Given the description of an element on the screen output the (x, y) to click on. 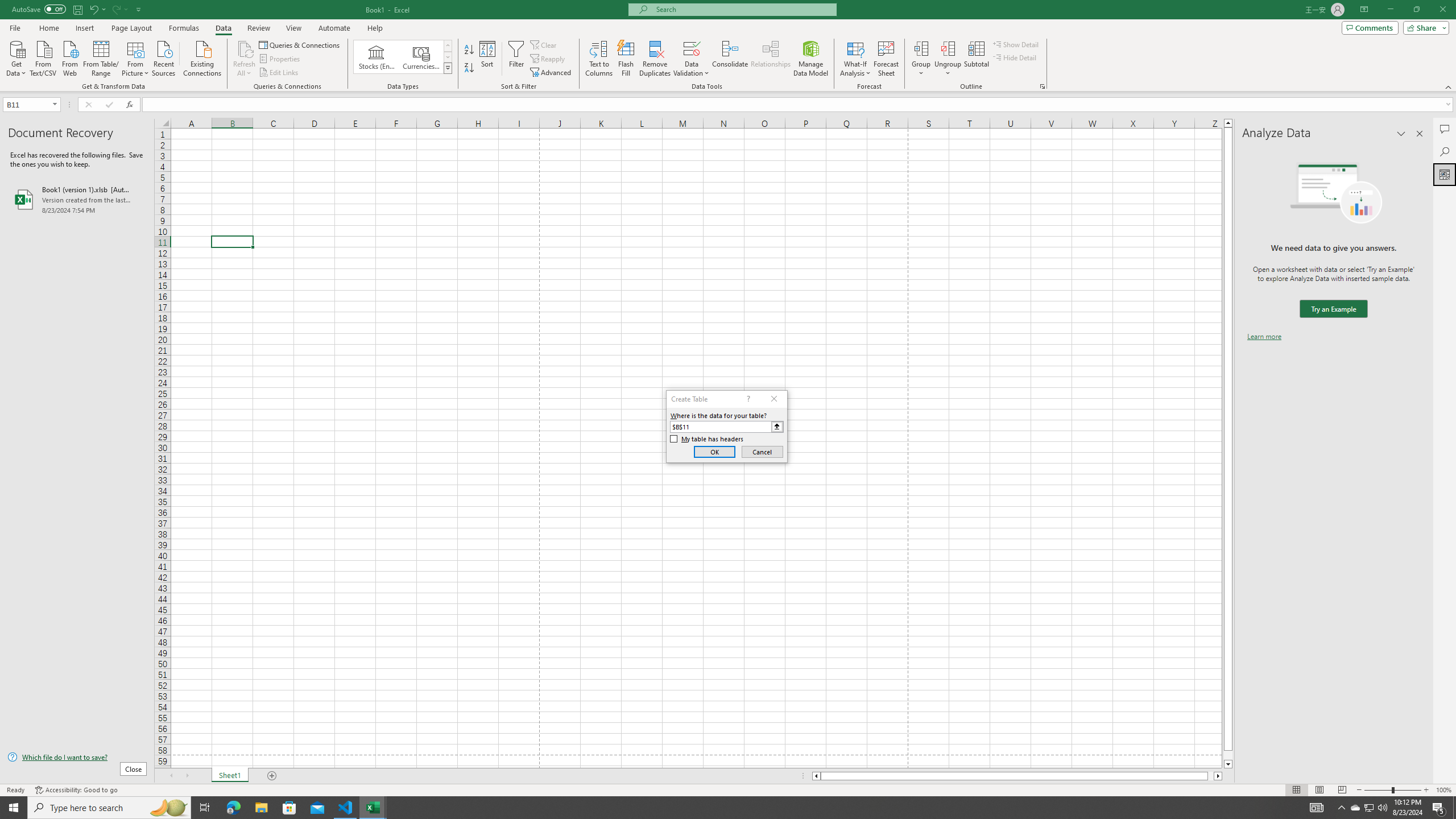
Page Layout (131, 28)
Name Box (27, 104)
System (6, 6)
Forecast Sheet (885, 58)
Minimize (1390, 9)
Existing Connections (202, 57)
Group... (921, 48)
Sort... (487, 58)
Properties (280, 58)
Show Detail (1016, 44)
We need data to give you answers. Try an Example (1333, 308)
System (6, 6)
What-If Analysis (855, 58)
Formulas (184, 28)
